Given the description of an element on the screen output the (x, y) to click on. 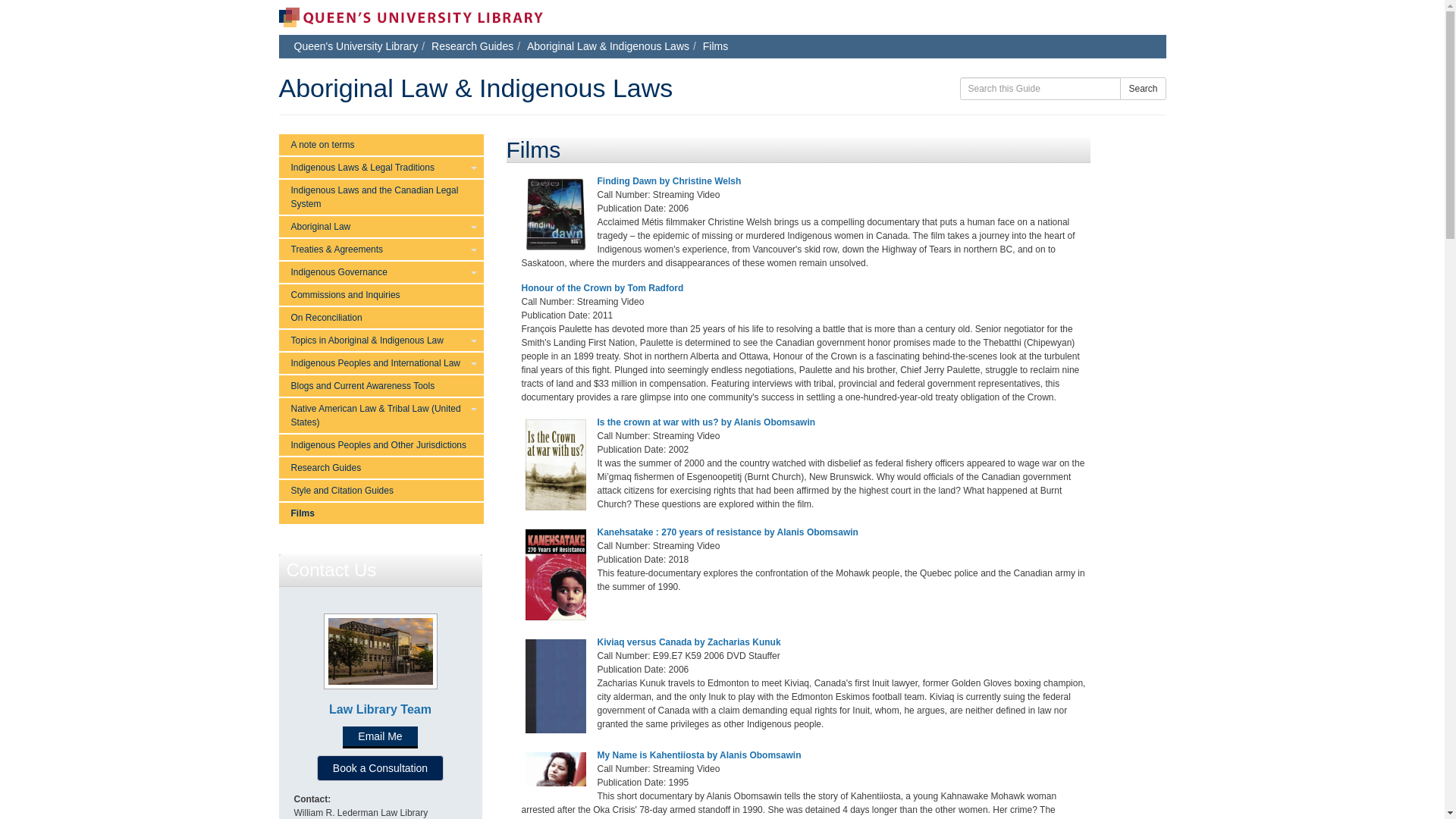
Search (1142, 87)
Indigenous Laws and the Canadian Legal System (381, 196)
Aboriginal Law (381, 226)
Toggle Dropdown (473, 167)
Research Guides (471, 46)
Toggle Dropdown (473, 271)
Commissions and Inquiries (381, 294)
Indigenous Governance (381, 271)
Queen's University Library (356, 46)
Toggle Dropdown (473, 249)
A note on terms (381, 144)
On Reconciliation (381, 317)
Toggle Dropdown (473, 226)
